Given the description of an element on the screen output the (x, y) to click on. 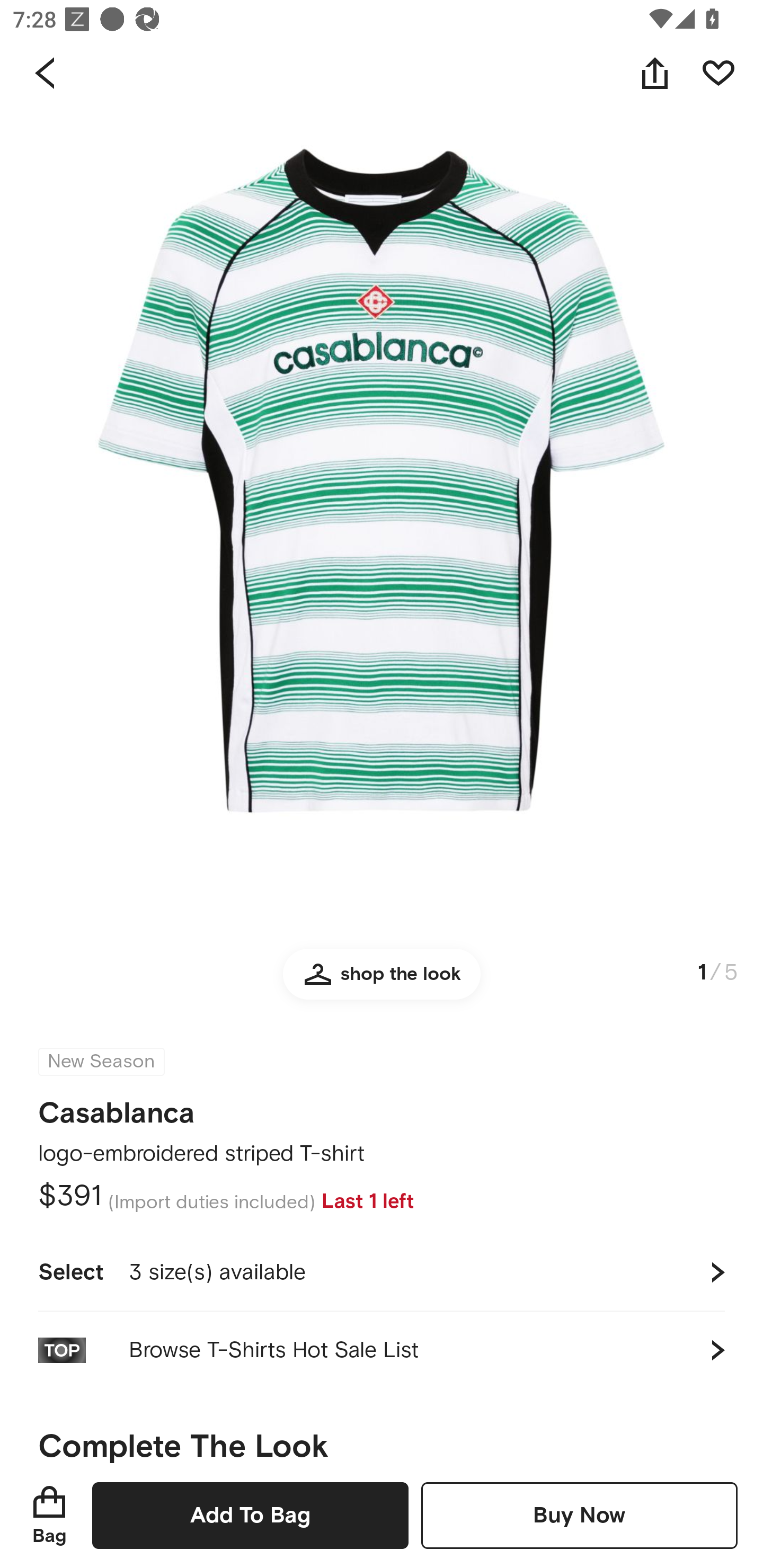
shop the look (381, 982)
Casablanca (116, 1107)
Select 3 size(s) available (381, 1272)
Browse T-Shirts Hot Sale List (381, 1349)
Bag (49, 1515)
Add To Bag (250, 1515)
Buy Now (579, 1515)
